Given the description of an element on the screen output the (x, y) to click on. 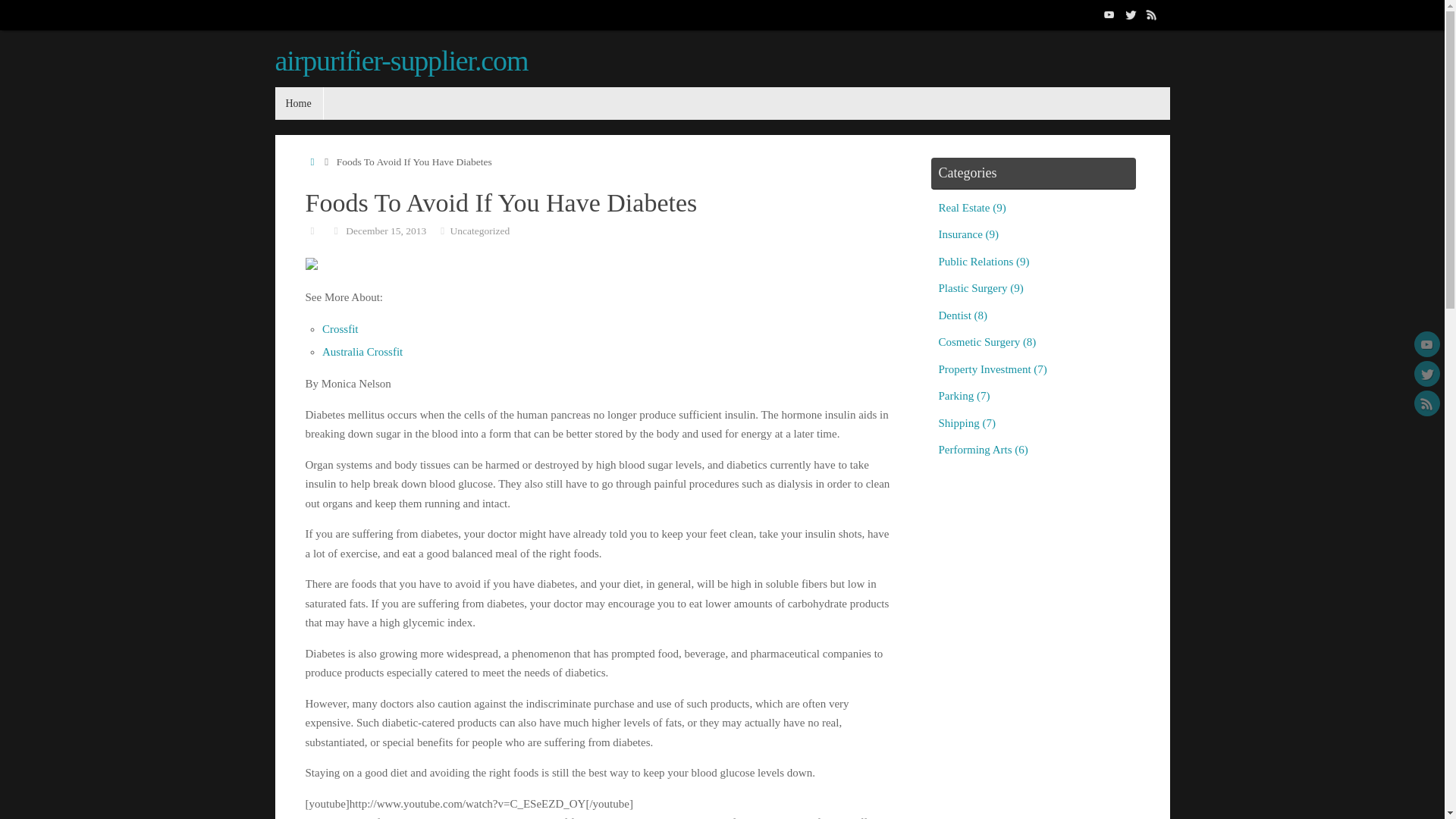
RSS (1426, 403)
Author  (311, 229)
YouTube (1108, 14)
Home (298, 102)
RSS (1150, 14)
YouTube (1426, 344)
Crossfit (339, 328)
Twitter (1129, 14)
Date (336, 229)
Categories (442, 229)
